Given the description of an element on the screen output the (x, y) to click on. 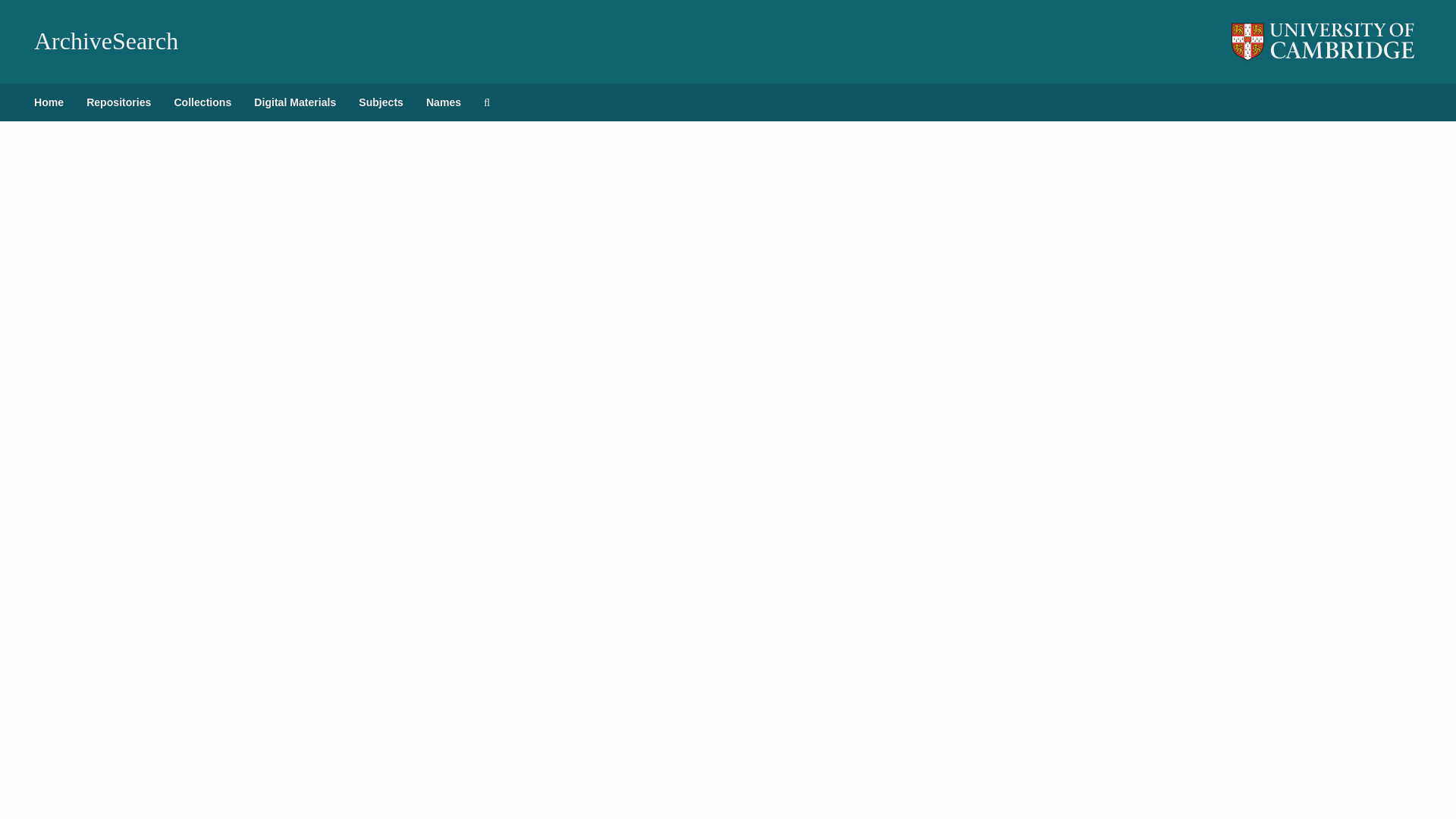
Home (49, 102)
Subjects (380, 102)
Repositories (118, 102)
Names (442, 102)
Collections (202, 102)
Digital Materials (295, 102)
ArchiveSearch (105, 40)
Return to the ArchiveSearch homepage (105, 40)
